Given the description of an element on the screen output the (x, y) to click on. 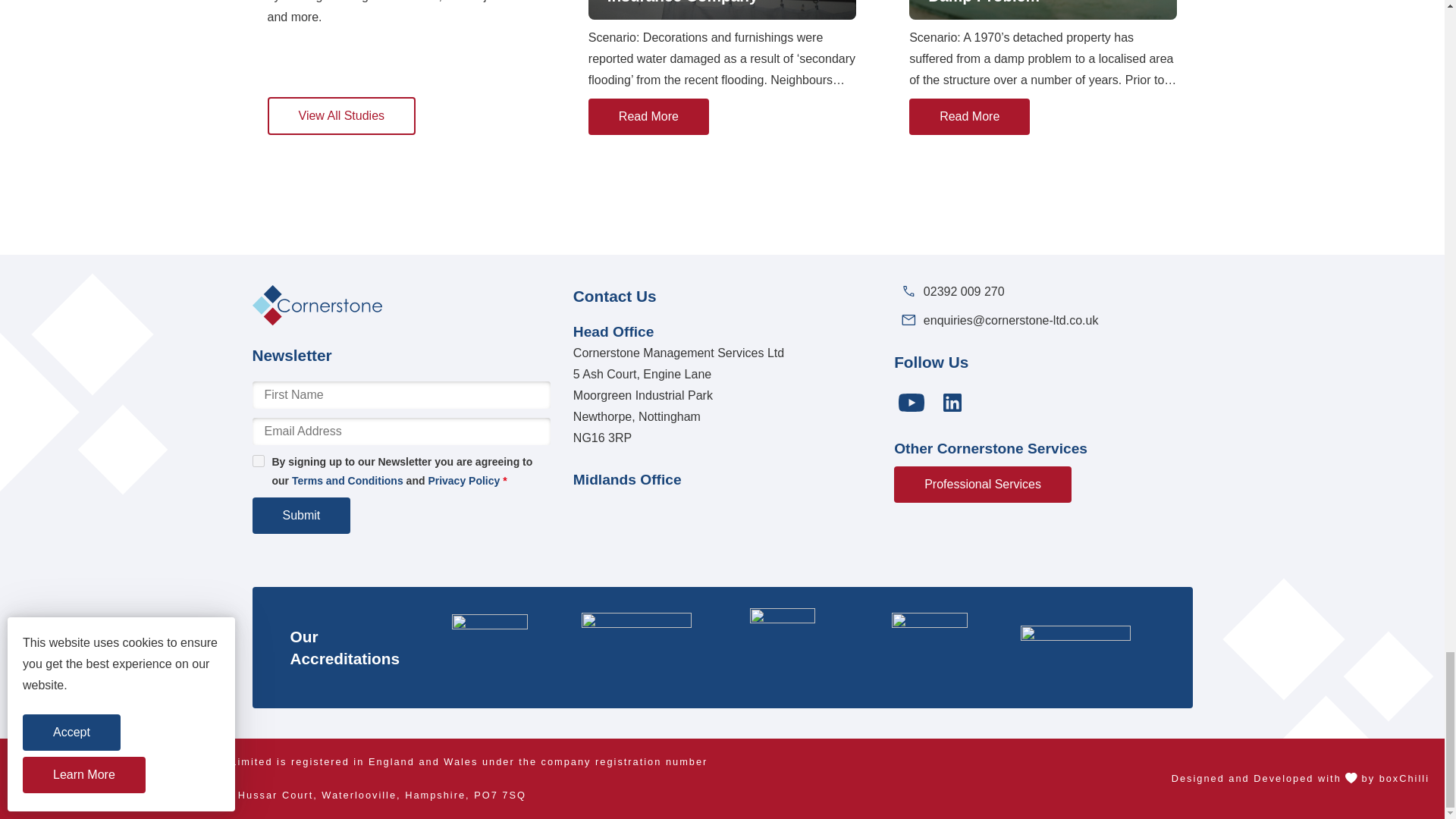
on (257, 460)
